Given the description of an element on the screen output the (x, y) to click on. 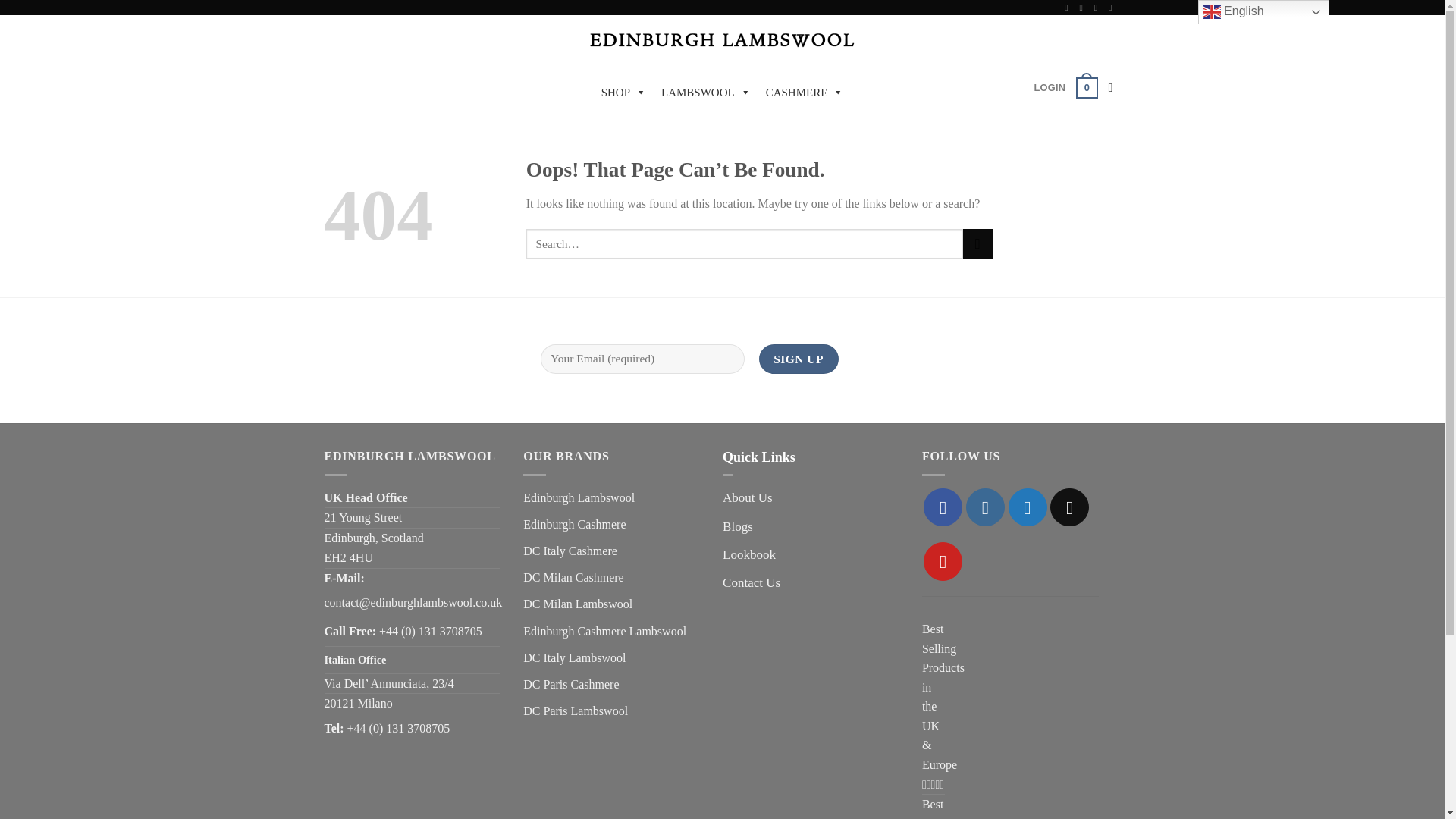
Lookbook (749, 554)
Sign Up (798, 358)
About Us (747, 497)
LOGIN (1049, 87)
SHOP (623, 91)
Blogs (737, 526)
Sign Up (798, 358)
LAMBSWOOL (705, 91)
Contact Us (751, 582)
CASHMERE (804, 91)
